Given the description of an element on the screen output the (x, y) to click on. 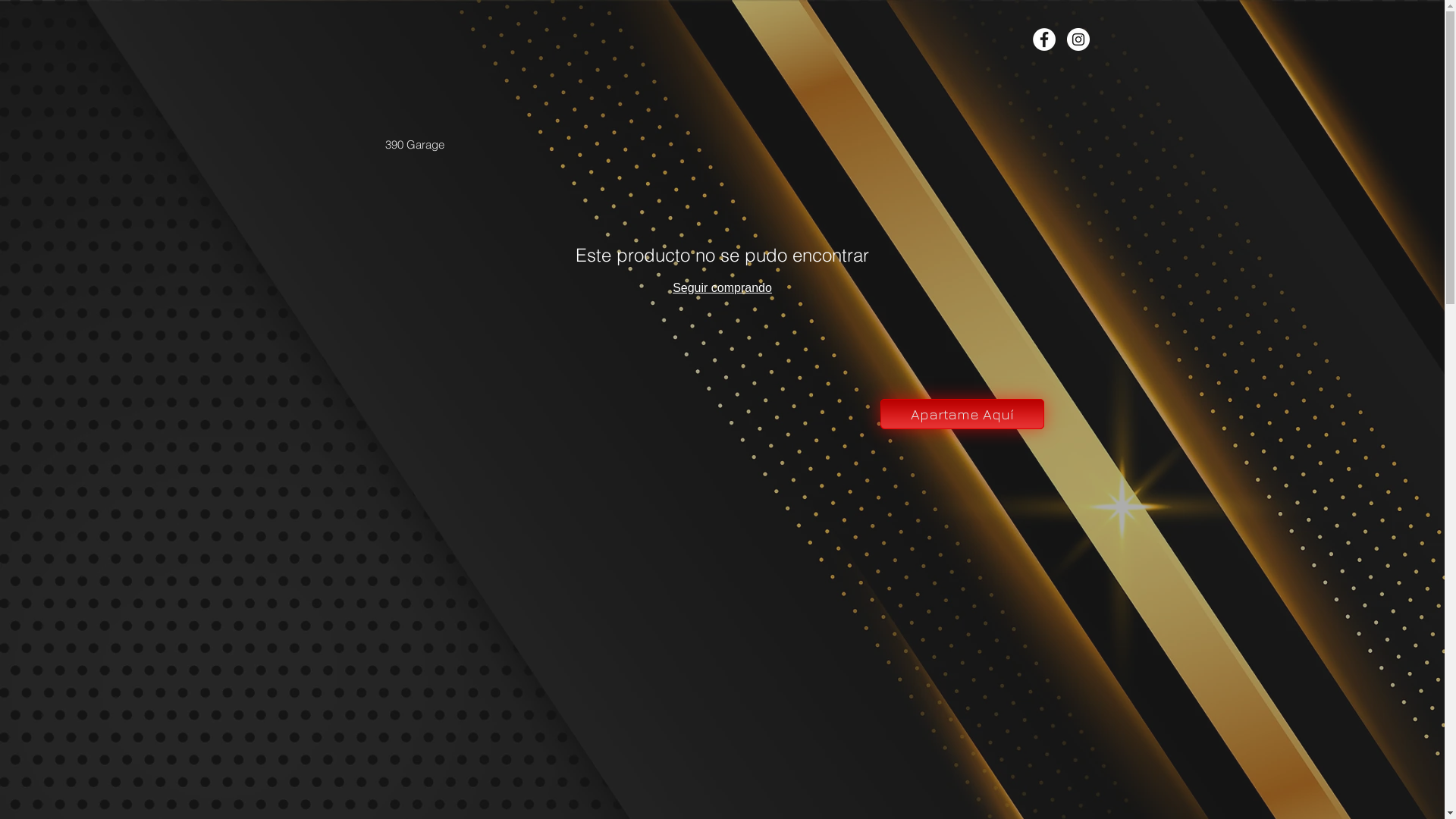
Seguir comprando Element type: text (721, 287)
390 Garage Element type: text (414, 144)
